Given the description of an element on the screen output the (x, y) to click on. 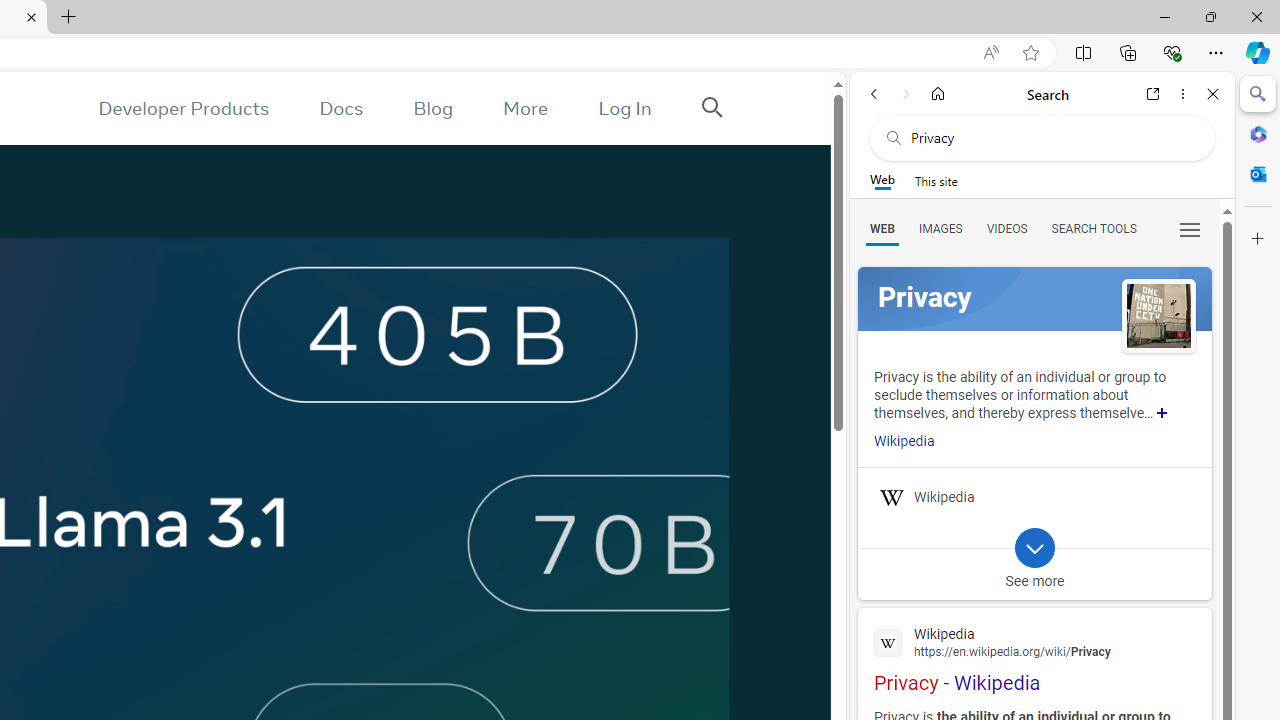
Developer Products (183, 108)
Web scope (882, 180)
Forward (906, 93)
Blog (432, 108)
Show more (1162, 412)
Outlook (1258, 174)
Wikipedia (1034, 641)
